Given the description of an element on the screen output the (x, y) to click on. 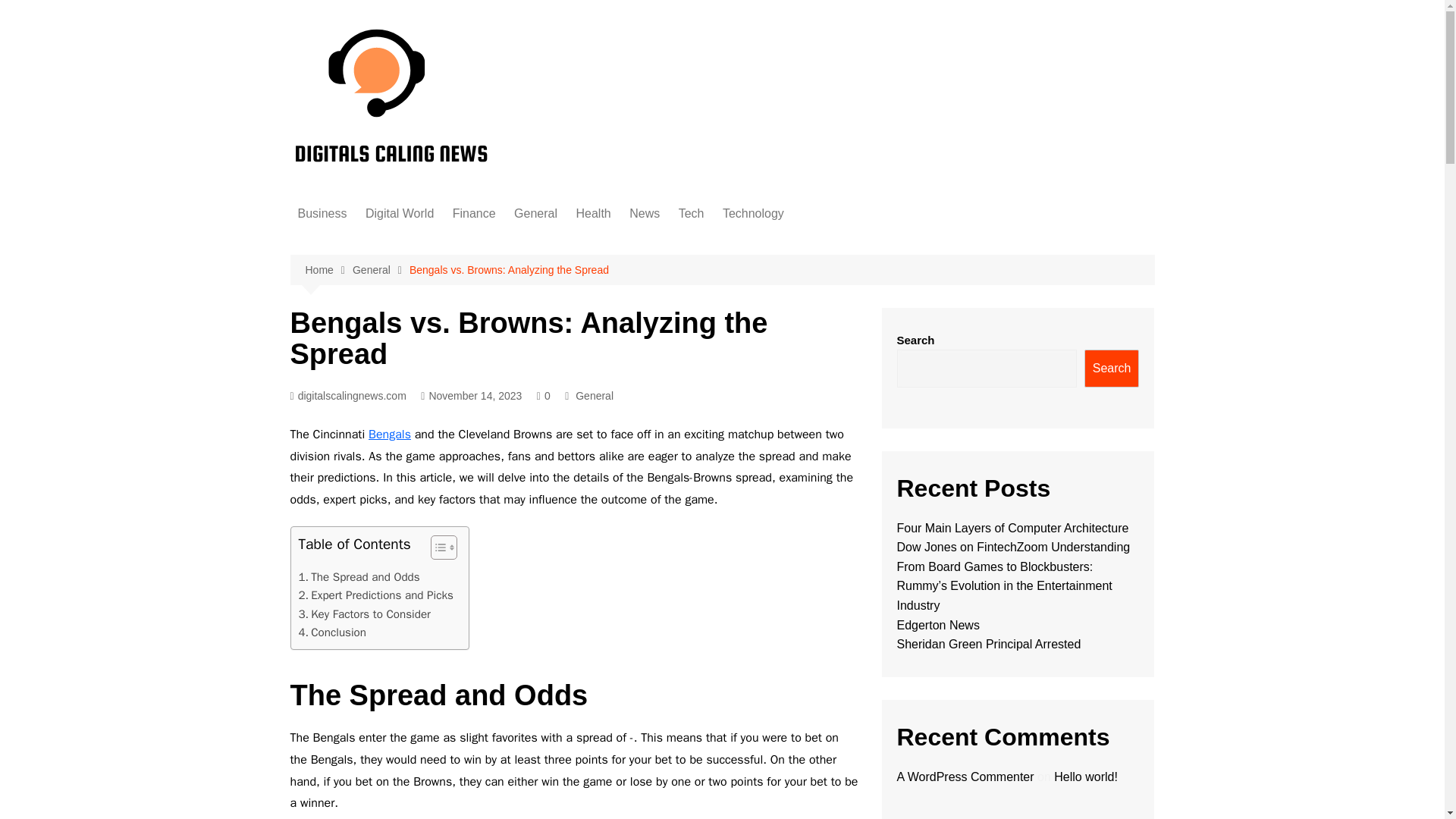
The Spread and Odds (359, 577)
Bengals vs. Browns: Analyzing the Spread (508, 269)
Tech (691, 213)
Digital World (399, 213)
Health (592, 213)
digitalscalingnews.com (347, 395)
Home (328, 270)
General (380, 270)
The Spread and Odds (359, 577)
Expert Predictions and Picks (375, 595)
